Given the description of an element on the screen output the (x, y) to click on. 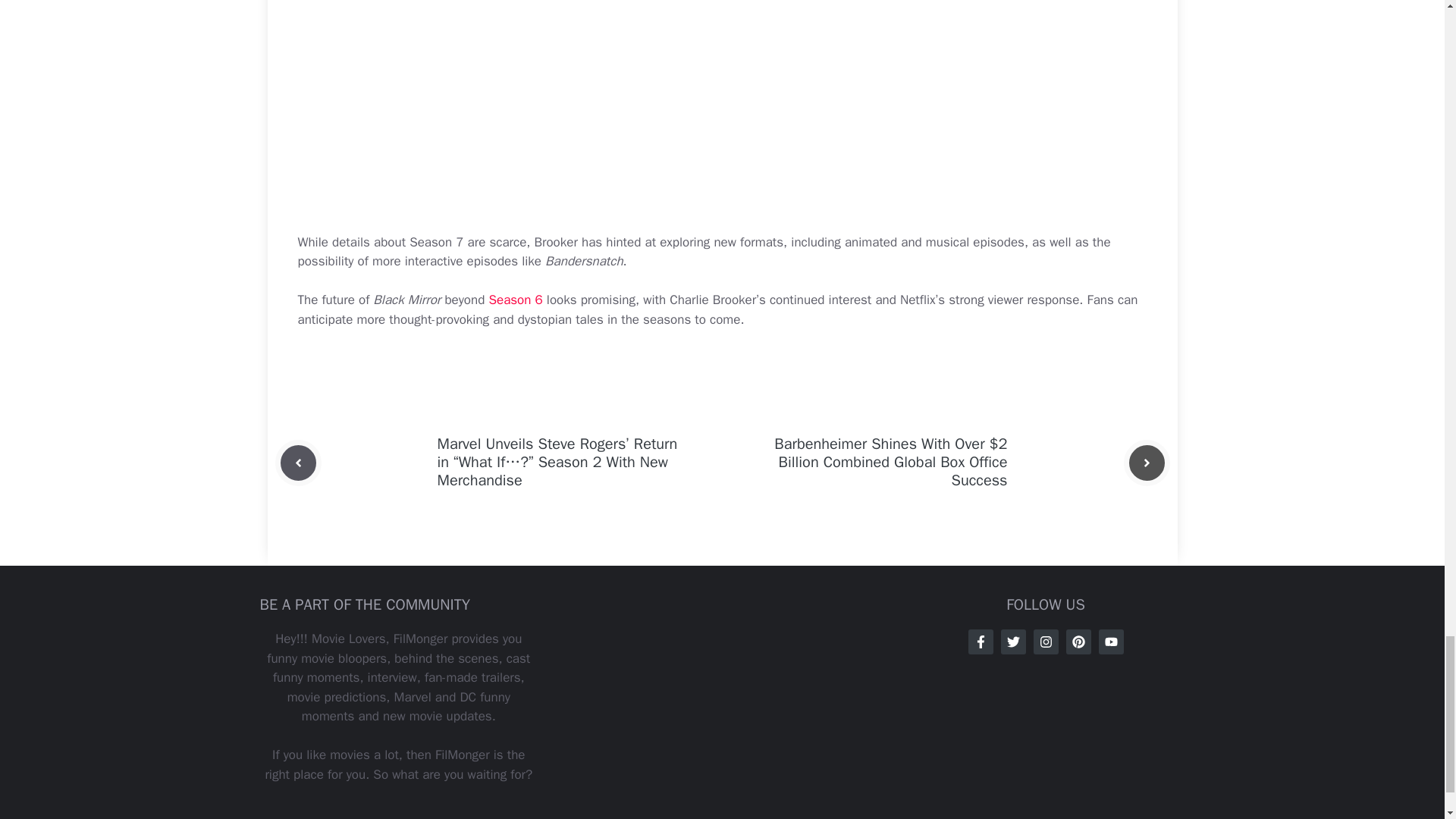
Black Mirror Season 6: A Dystopian Delight with Fresh Twists (514, 299)
Season 6 (514, 299)
